Given the description of an element on the screen output the (x, y) to click on. 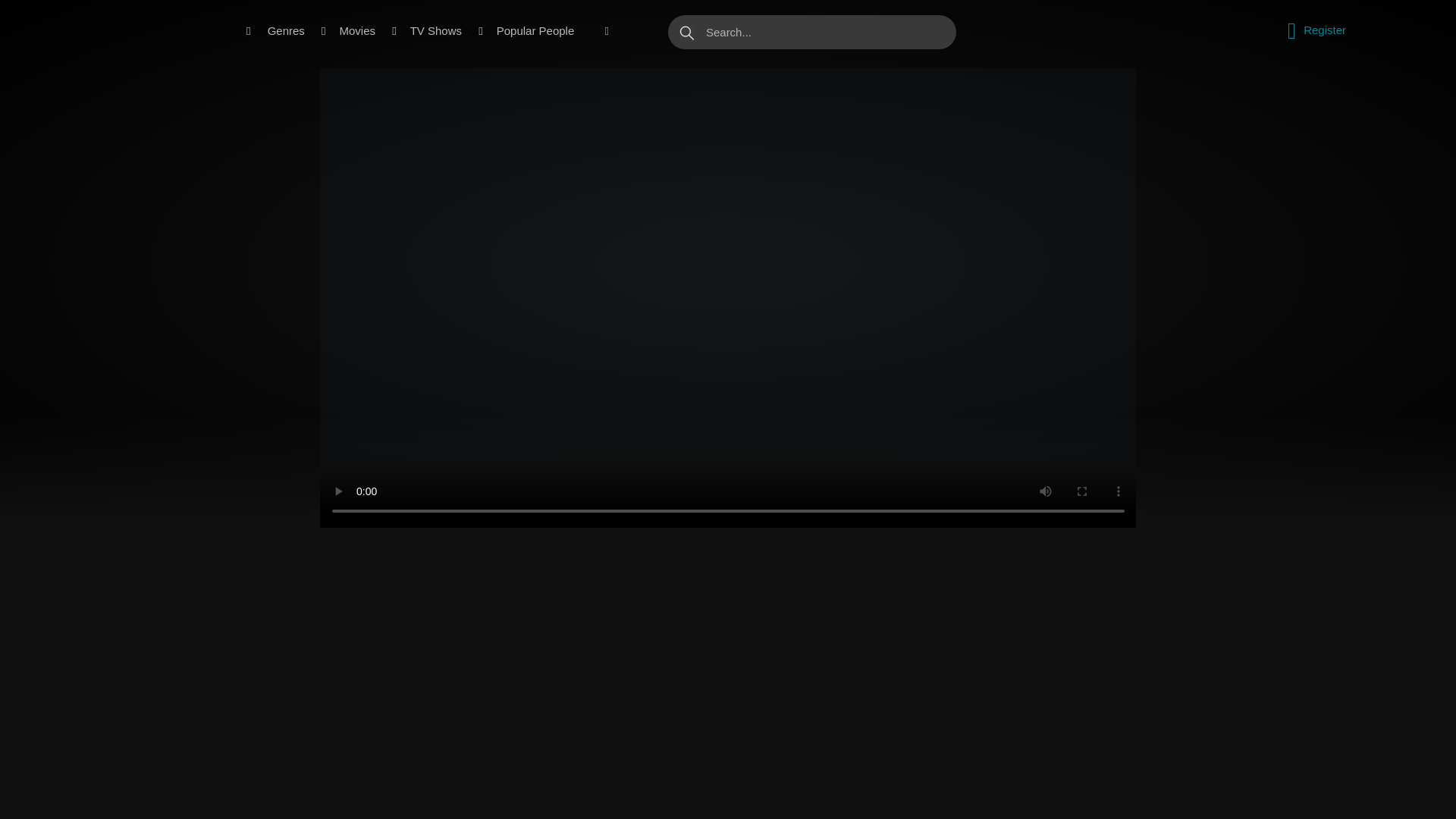
TV Shows (435, 31)
Watch Movies Online Free (162, 31)
Movies (357, 31)
Genres (286, 31)
Movies (357, 31)
Popular People (535, 31)
